Given the description of an element on the screen output the (x, y) to click on. 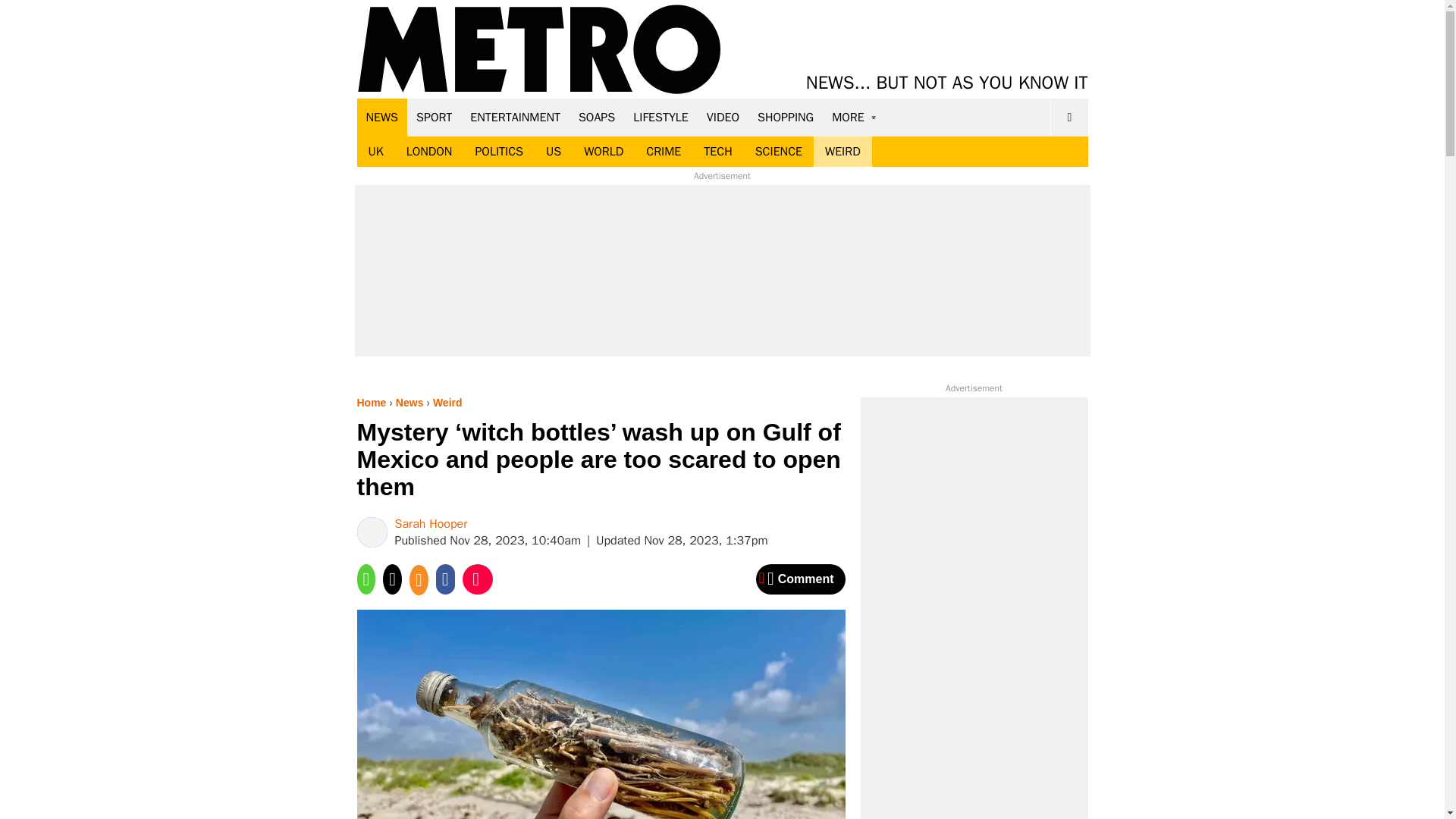
US (553, 151)
TECH (717, 151)
LONDON (429, 151)
LIFESTYLE (660, 117)
SCIENCE (778, 151)
SPORT (434, 117)
NEWS (381, 117)
WEIRD (842, 151)
Metro (539, 50)
CRIME (663, 151)
